Given the description of an element on the screen output the (x, y) to click on. 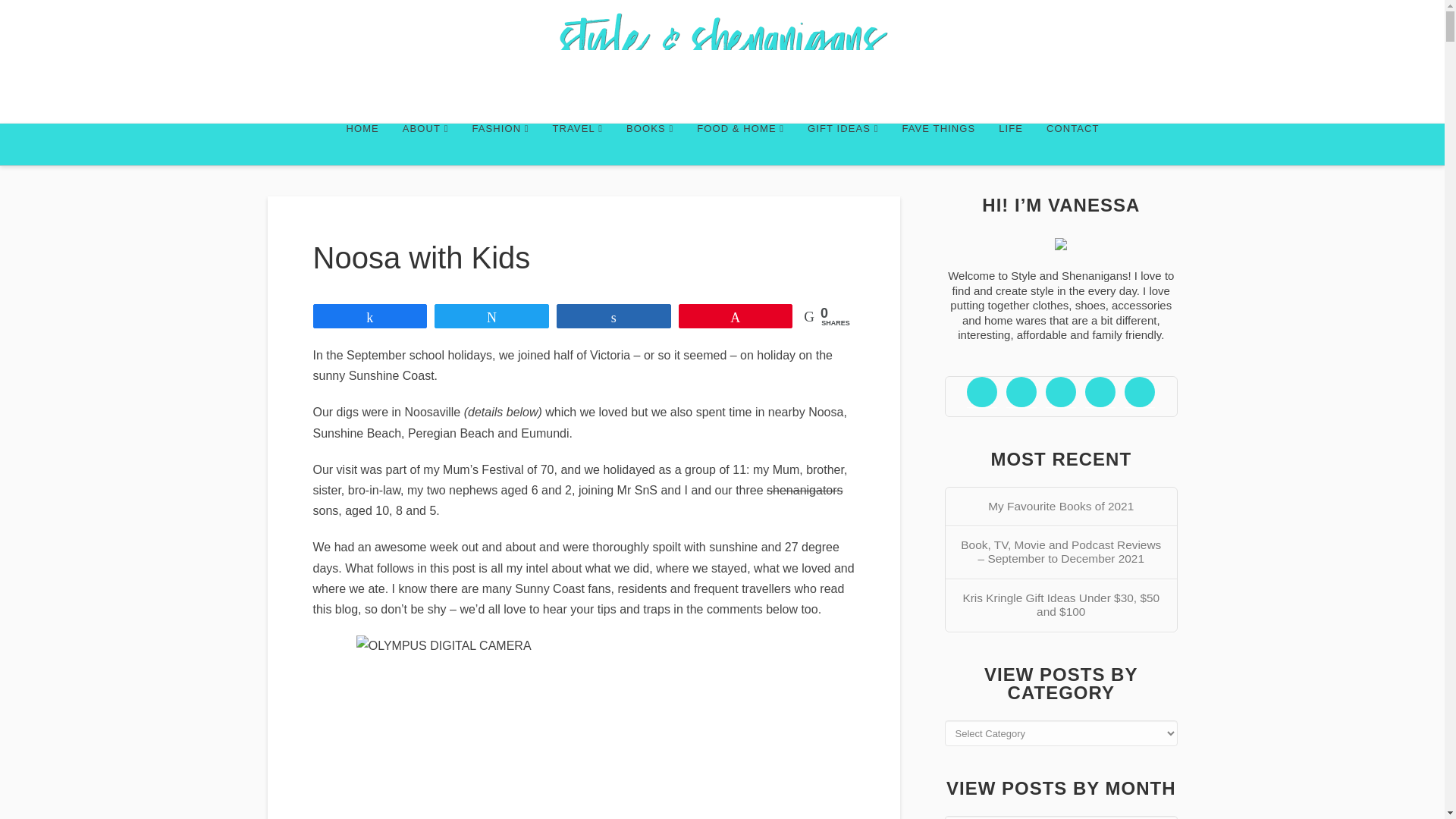
ABOUT (425, 144)
BOOKS (649, 144)
TRAVEL (577, 144)
GIFT IDEAS (841, 144)
HOME (361, 144)
FASHION (500, 144)
